Given the description of an element on the screen output the (x, y) to click on. 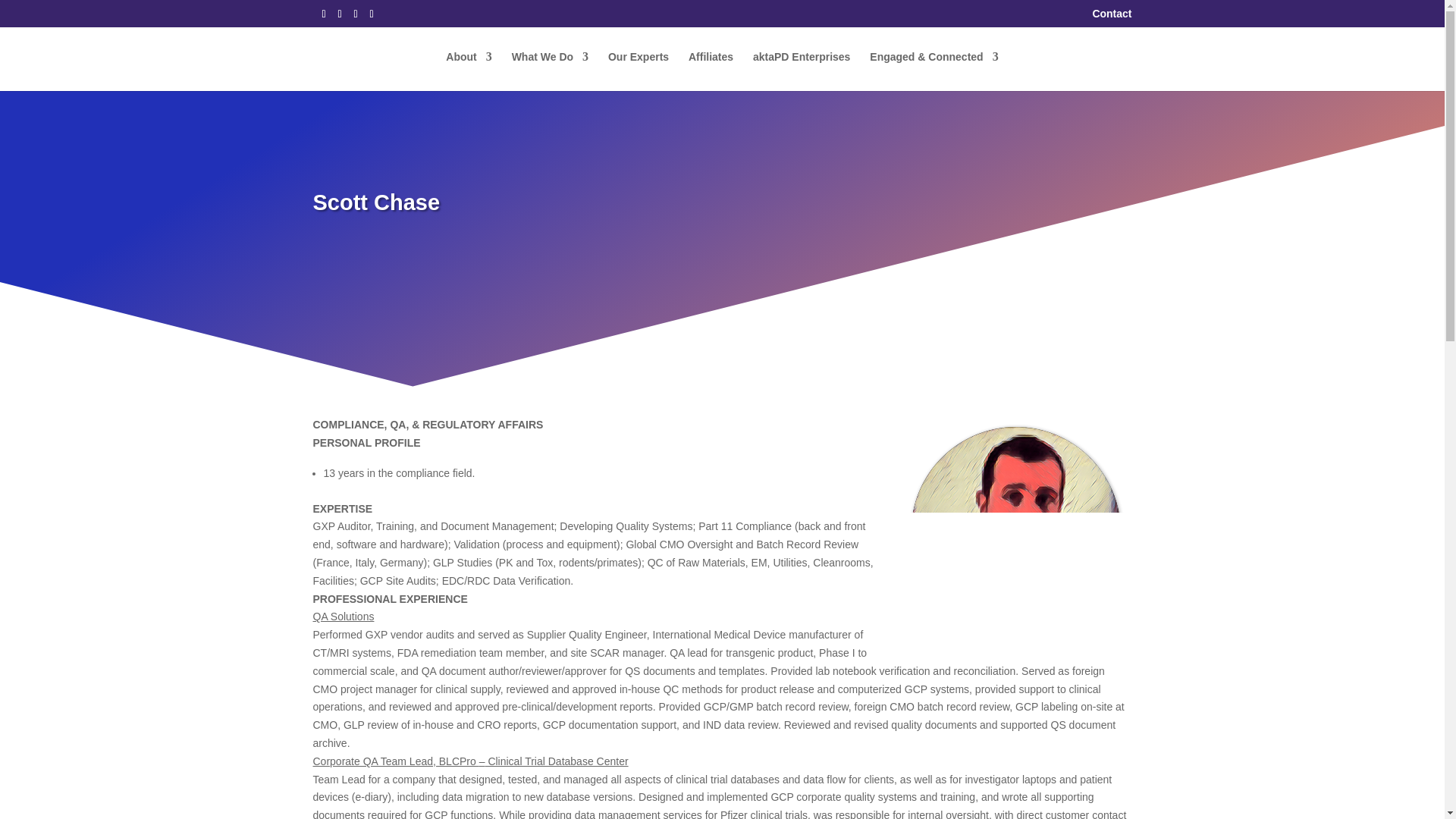
About (468, 70)
What We Do (550, 70)
Contact (1111, 16)
Affiliates (710, 70)
aktaPD Enterprises (801, 70)
Our Experts (638, 70)
